Given the description of an element on the screen output the (x, y) to click on. 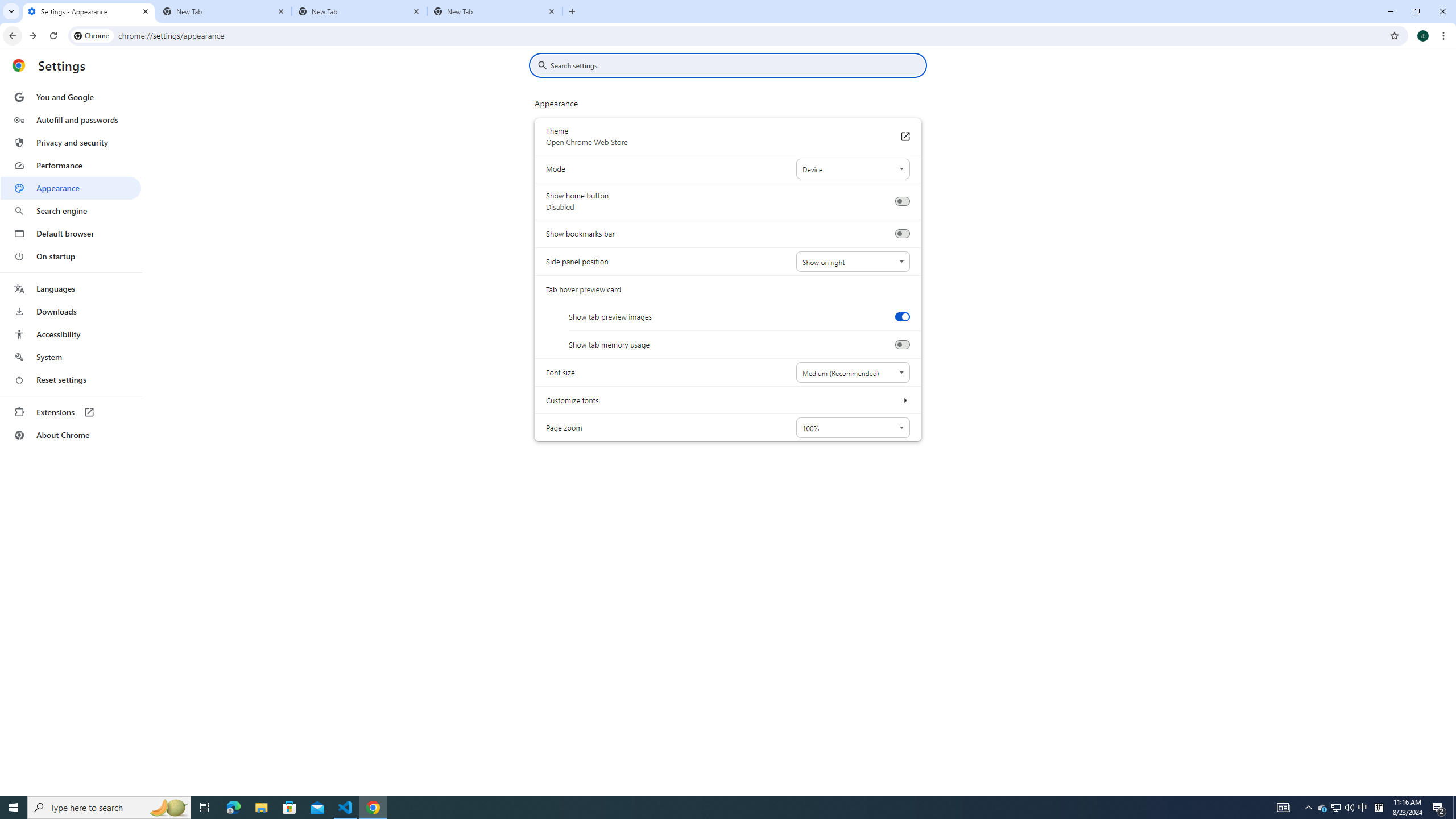
You and Google (70, 96)
Autofill and passwords (70, 119)
Show tab memory usage (901, 344)
Privacy and security (70, 142)
On startup (70, 255)
Languages (70, 288)
Theme Open Chrome Web Store (904, 136)
Page zoom (852, 427)
